Given the description of an element on the screen output the (x, y) to click on. 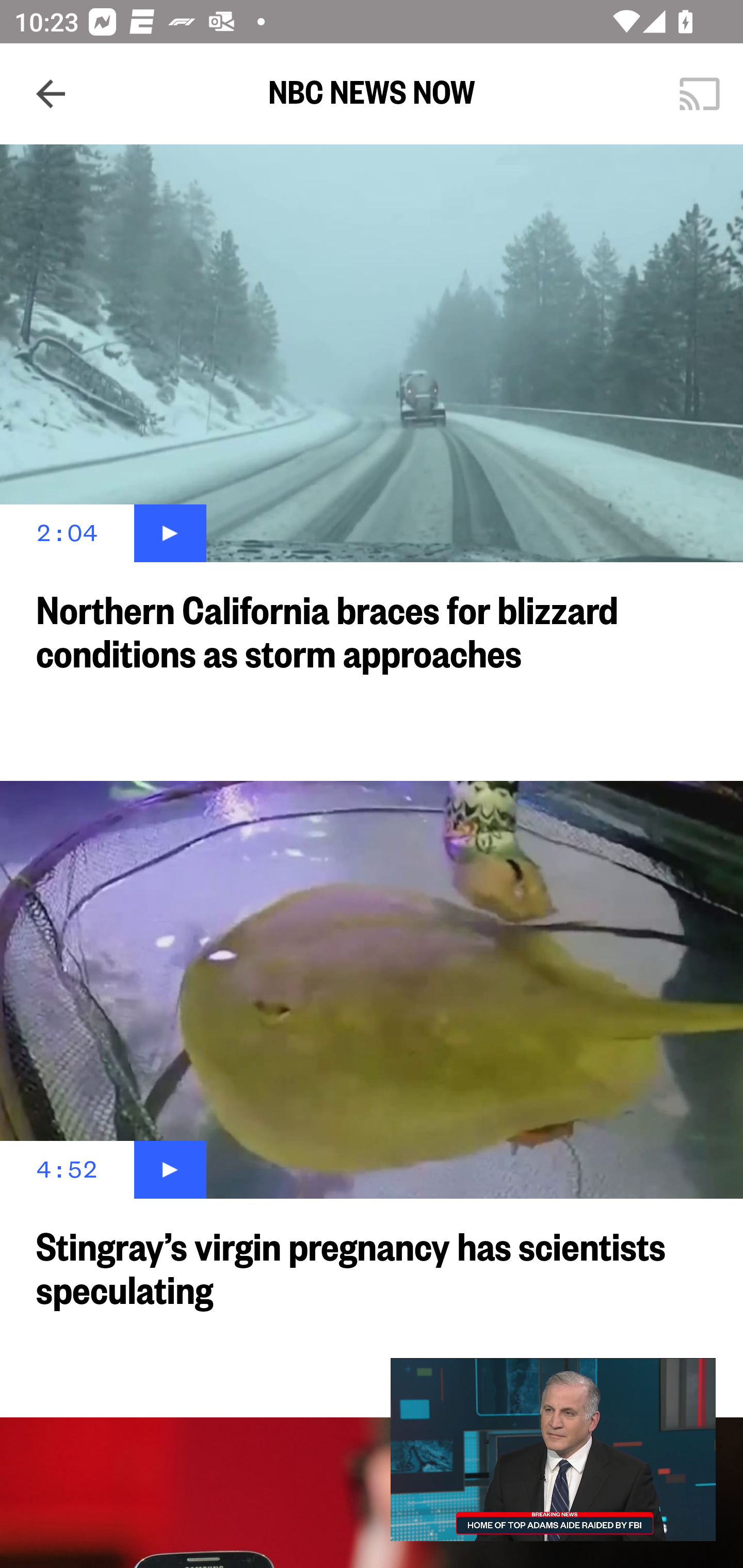
Navigate up (50, 93)
Cast. Disconnected (699, 93)
